Given the description of an element on the screen output the (x, y) to click on. 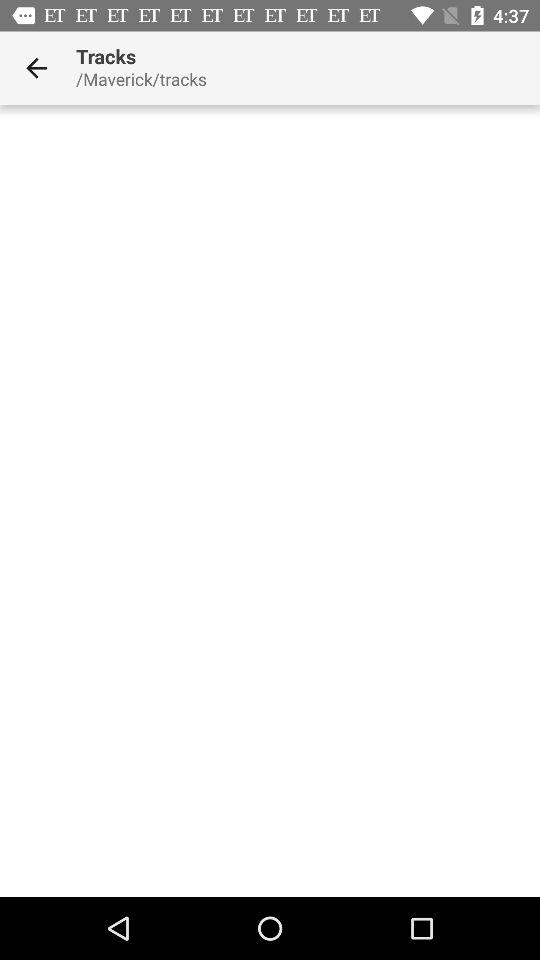
turn off icon next to tracks (36, 68)
